Given the description of an element on the screen output the (x, y) to click on. 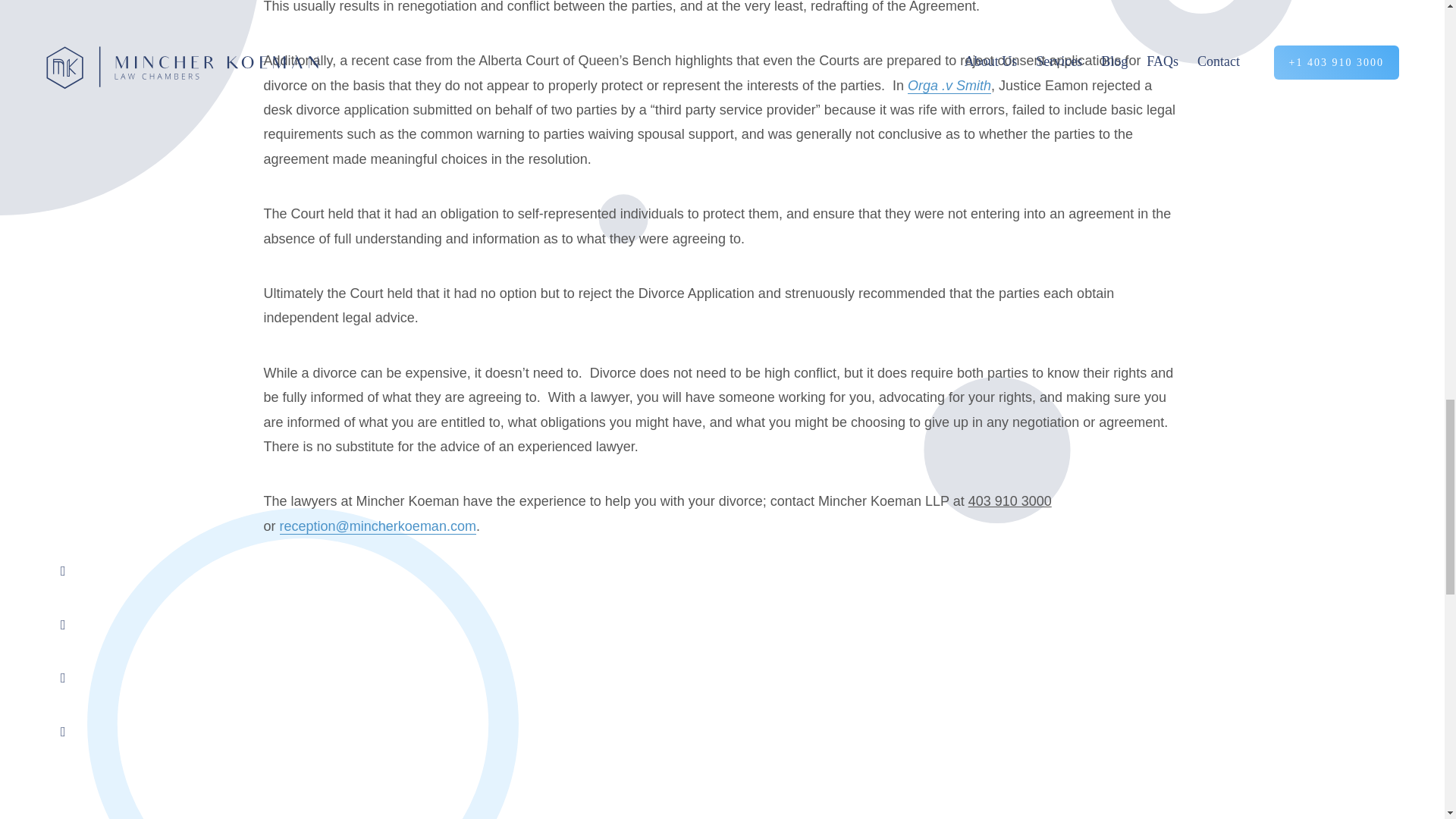
Orga .v Smith (949, 85)
